Given the description of an element on the screen output the (x, y) to click on. 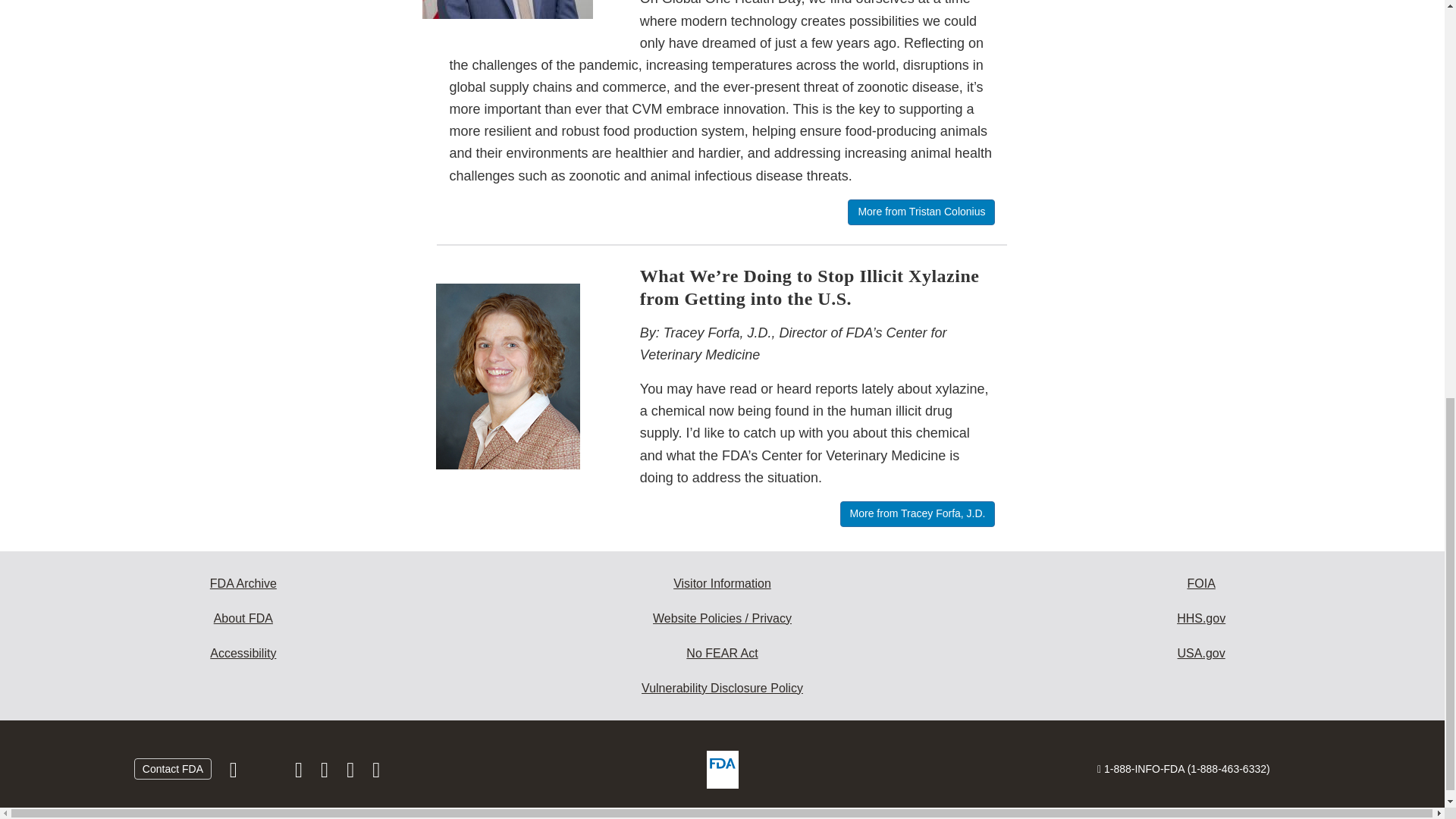
Follow FDA on Facebook (234, 773)
Freedom of Information Act (1200, 583)
Tristan Colonius (507, 9)
Health and Human Services (1200, 618)
Follow FDA on LinkedIn (326, 773)
Follow FDA on X (266, 773)
Follow FDA on Instagram (299, 773)
Tristan Colonius (507, 9)
Tracey H. Forfa, J.D. (507, 376)
